Given the description of an element on the screen output the (x, y) to click on. 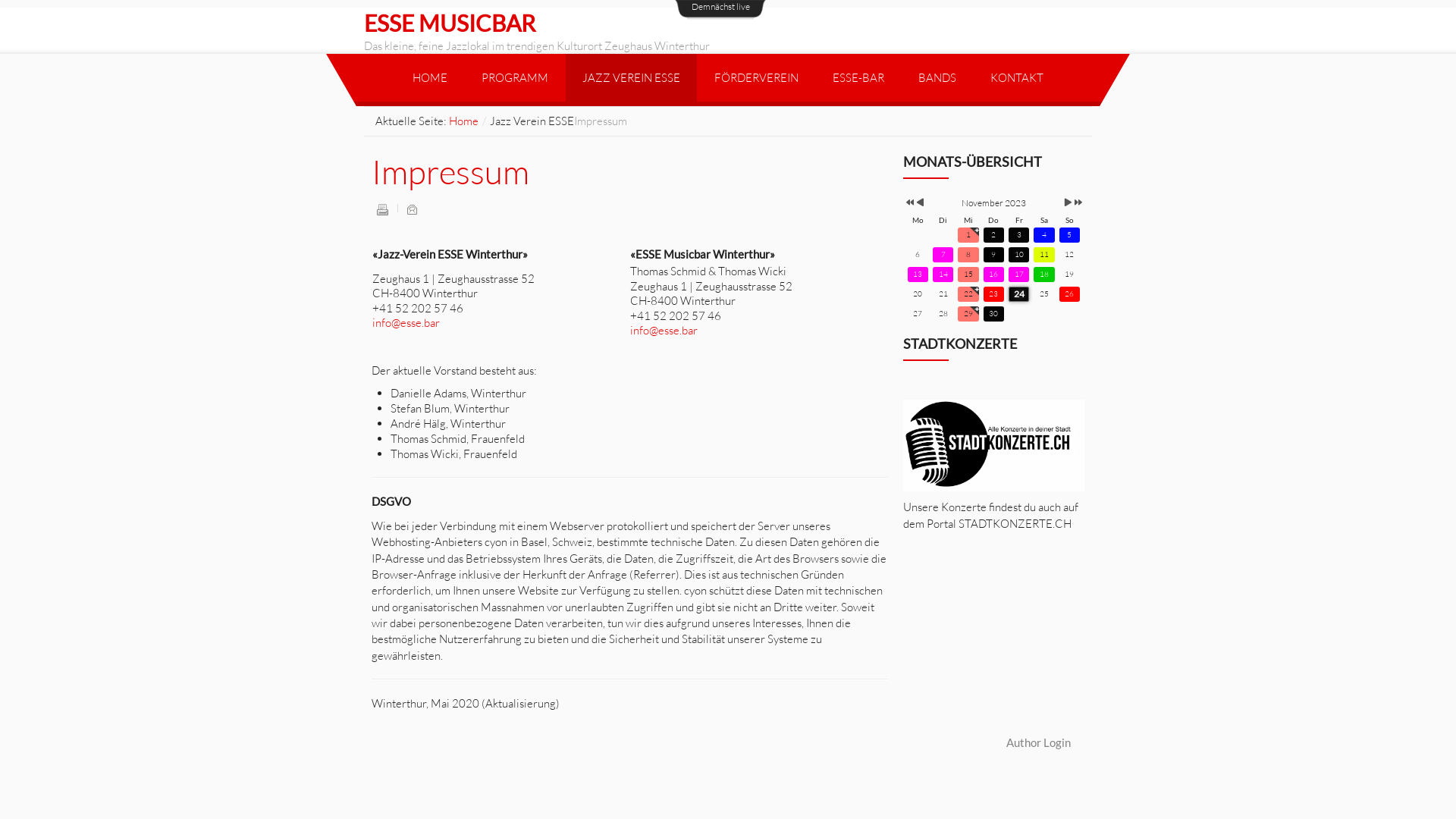
info@esse.bar Element type: text (405, 322)
BANDS Element type: text (936, 77)
11 Element type: text (1043, 254)
ESSE-BAR Element type: text (857, 77)
18 Element type: text (1043, 274)
KONTAKT Element type: text (1016, 77)
10 Element type: text (1018, 254)
14 Element type: text (942, 274)
30 Element type: text (993, 313)
24 Element type: text (1018, 293)
JAZZ VEREIN ESSE Element type: text (630, 77)
15 Element type: text (967, 274)
29 Element type: text (967, 313)
Drucken Element type: text (382, 209)
HOME Element type: text (429, 77)
22 Element type: text (967, 293)
7 Element type: text (942, 254)
PROGRAMM Element type: text (514, 77)
4 Element type: text (1043, 234)
26 Element type: text (1069, 293)
Impressum Element type: text (450, 170)
3 Element type: text (1018, 234)
9 Element type: text (993, 254)
16 Element type: text (993, 274)
2 Element type: text (993, 234)
17 Element type: text (1018, 274)
Vorheriger Monat Element type: text (920, 202)
Vorheriges Jahr Element type: text (908, 202)
8 Element type: text (967, 254)
Author Login Element type: text (1038, 742)
1 Element type: text (967, 234)
13 Element type: text (917, 274)
ESSE MUSICBAR Element type: text (449, 22)
E-Mail Element type: text (411, 209)
Home Element type: text (463, 120)
23 Element type: text (993, 293)
info@esse.bar Element type: text (663, 330)
5 Element type: text (1069, 234)
